Given the description of an element on the screen output the (x, y) to click on. 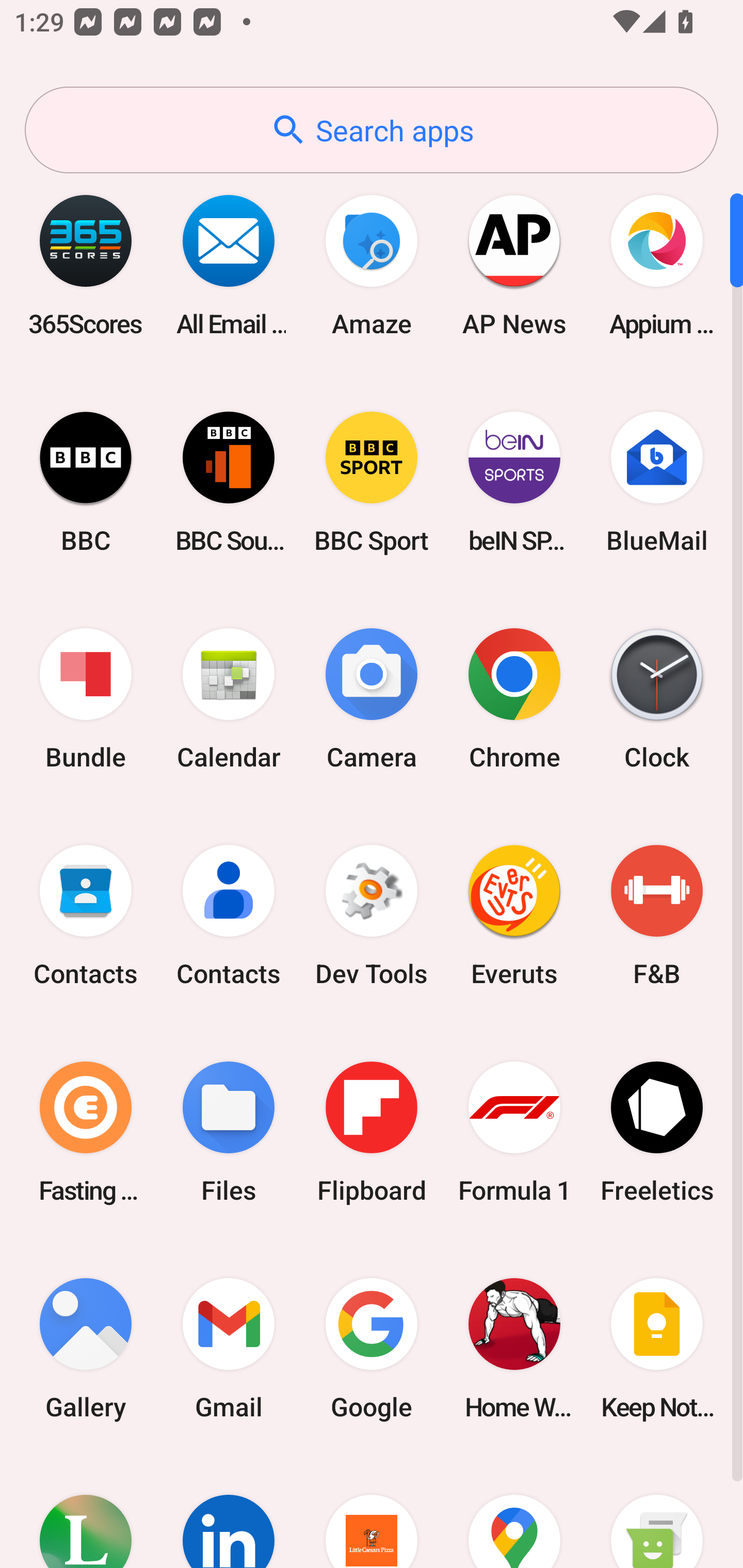
  Search apps (371, 130)
365Scores (85, 264)
All Email Connect (228, 264)
Amaze (371, 264)
AP News (514, 264)
Appium Settings (656, 264)
BBC (85, 482)
BBC Sounds (228, 482)
BBC Sport (371, 482)
beIN SPORTS (514, 482)
BlueMail (656, 482)
Bundle (85, 699)
Calendar (228, 699)
Camera (371, 699)
Chrome (514, 699)
Clock (656, 699)
Contacts (85, 915)
Contacts (228, 915)
Dev Tools (371, 915)
Everuts (514, 915)
F&B (656, 915)
Fasting Coach (85, 1131)
Files (228, 1131)
Flipboard (371, 1131)
Formula 1 (514, 1131)
Freeletics (656, 1131)
Gallery (85, 1348)
Gmail (228, 1348)
Google (371, 1348)
Home Workout (514, 1348)
Keep Notes (656, 1348)
Lifesum (85, 1512)
LinkedIn (228, 1512)
Little Caesars Pizza (371, 1512)
Maps (514, 1512)
Messaging (656, 1512)
